Given the description of an element on the screen output the (x, y) to click on. 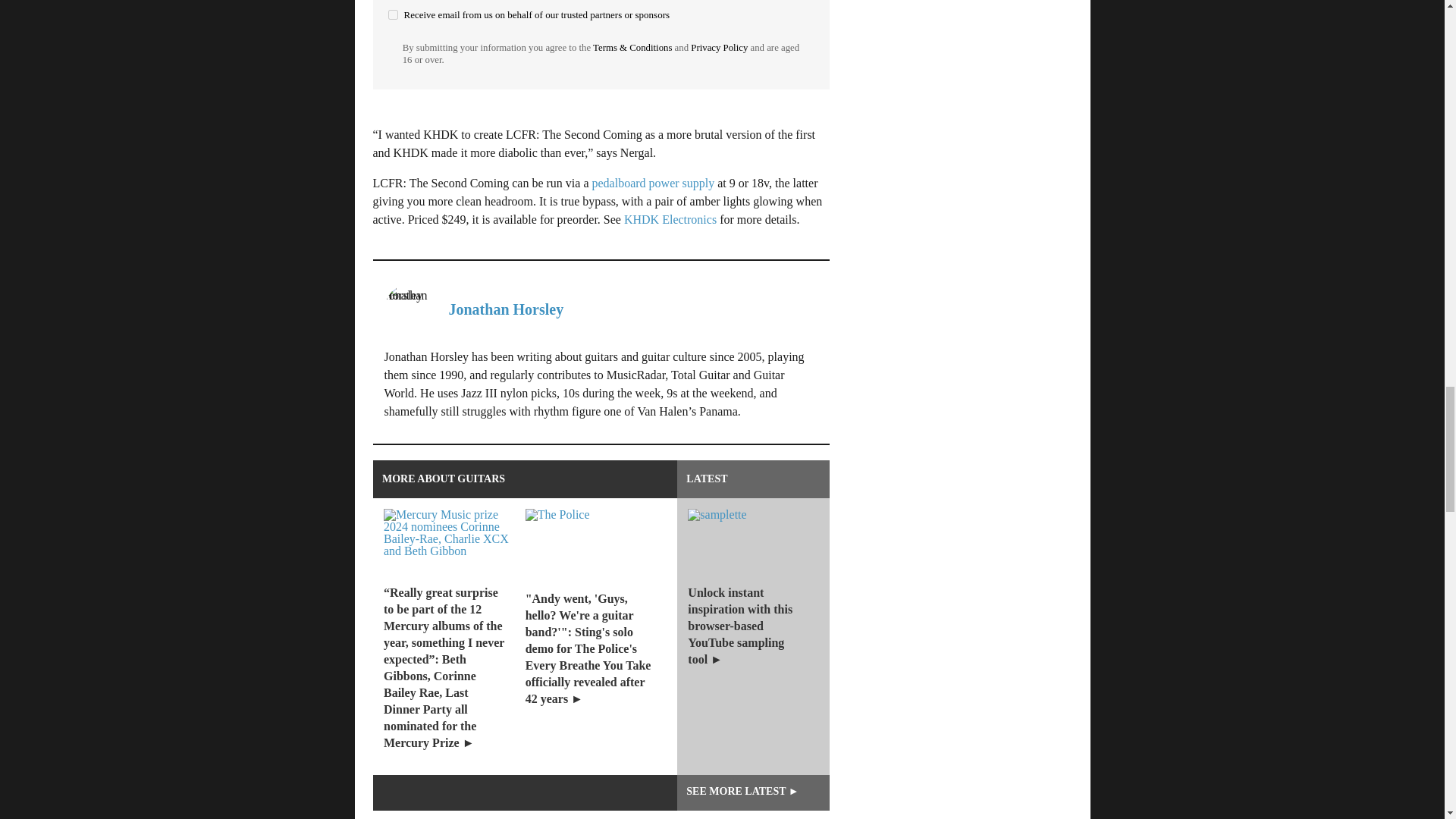
on (392, 14)
